Given the description of an element on the screen output the (x, y) to click on. 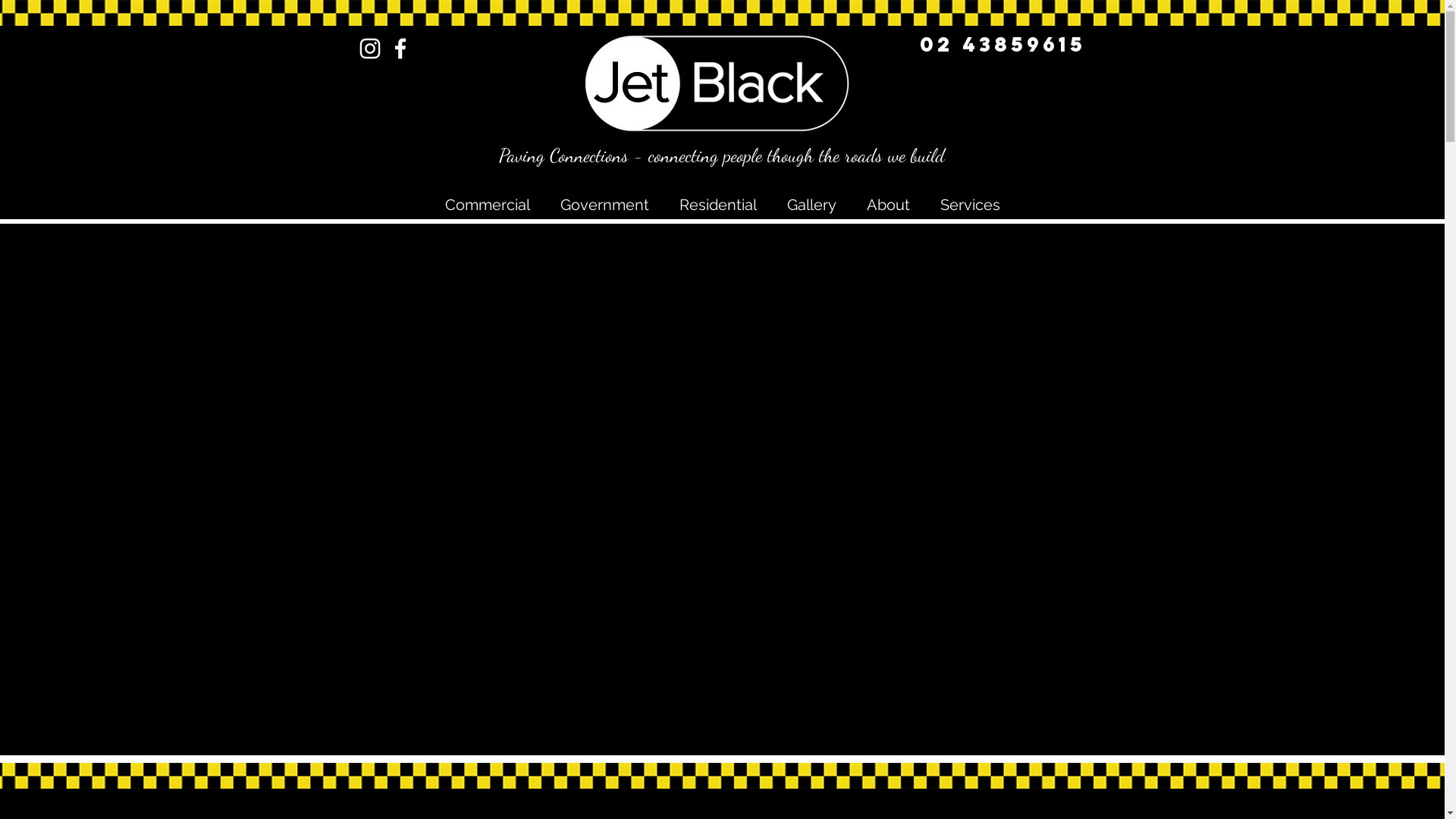
02 43859615 Element type: text (1002, 45)
Services Element type: text (970, 204)
About Element type: text (887, 204)
Gallery Element type: text (811, 204)
Government Element type: text (603, 204)
Residential Element type: text (717, 204)
Commercial Element type: text (486, 204)
